Given the description of an element on the screen output the (x, y) to click on. 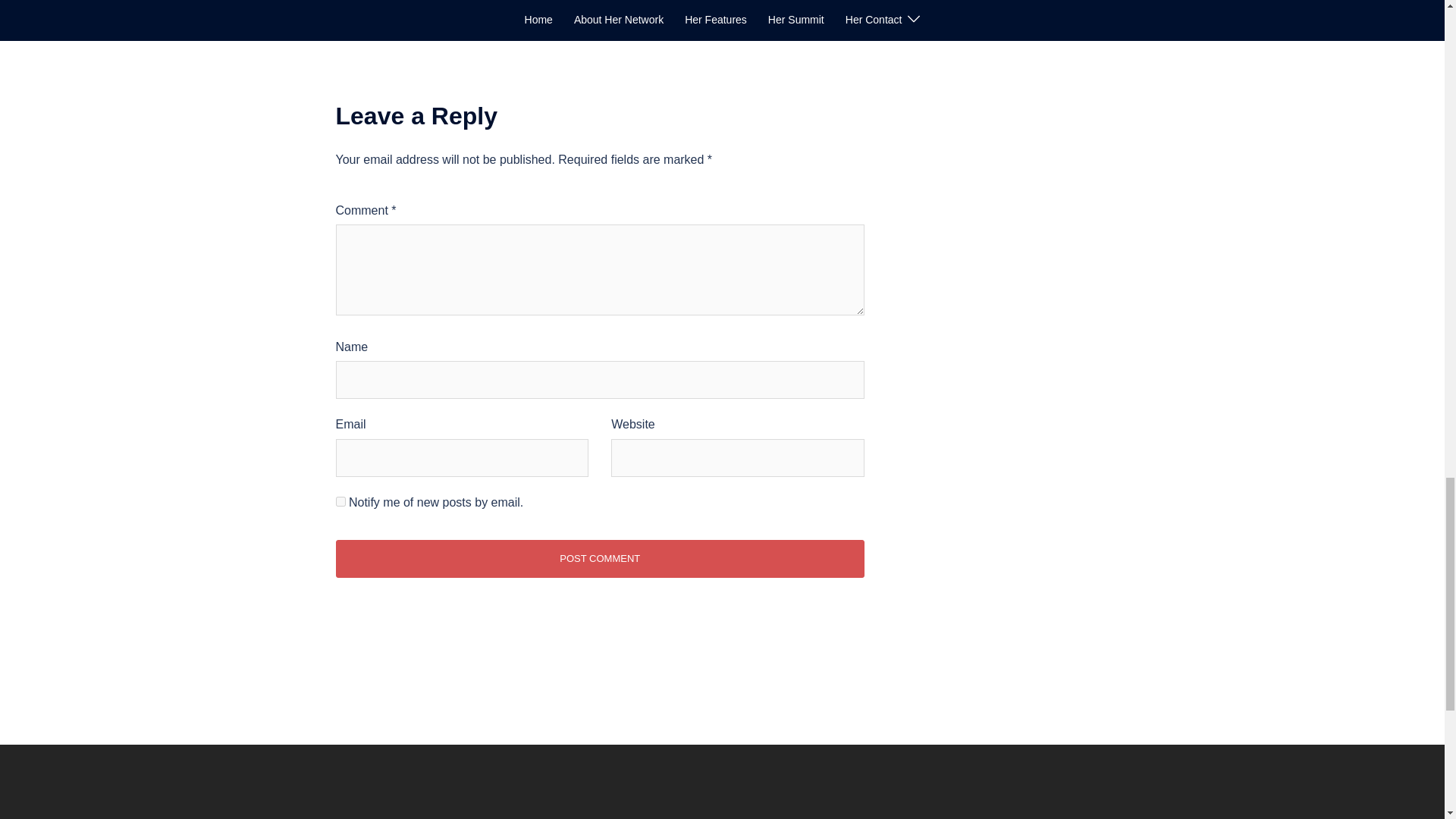
subscribe (339, 501)
Post Comment (599, 558)
Post Comment (599, 558)
